Given the description of an element on the screen output the (x, y) to click on. 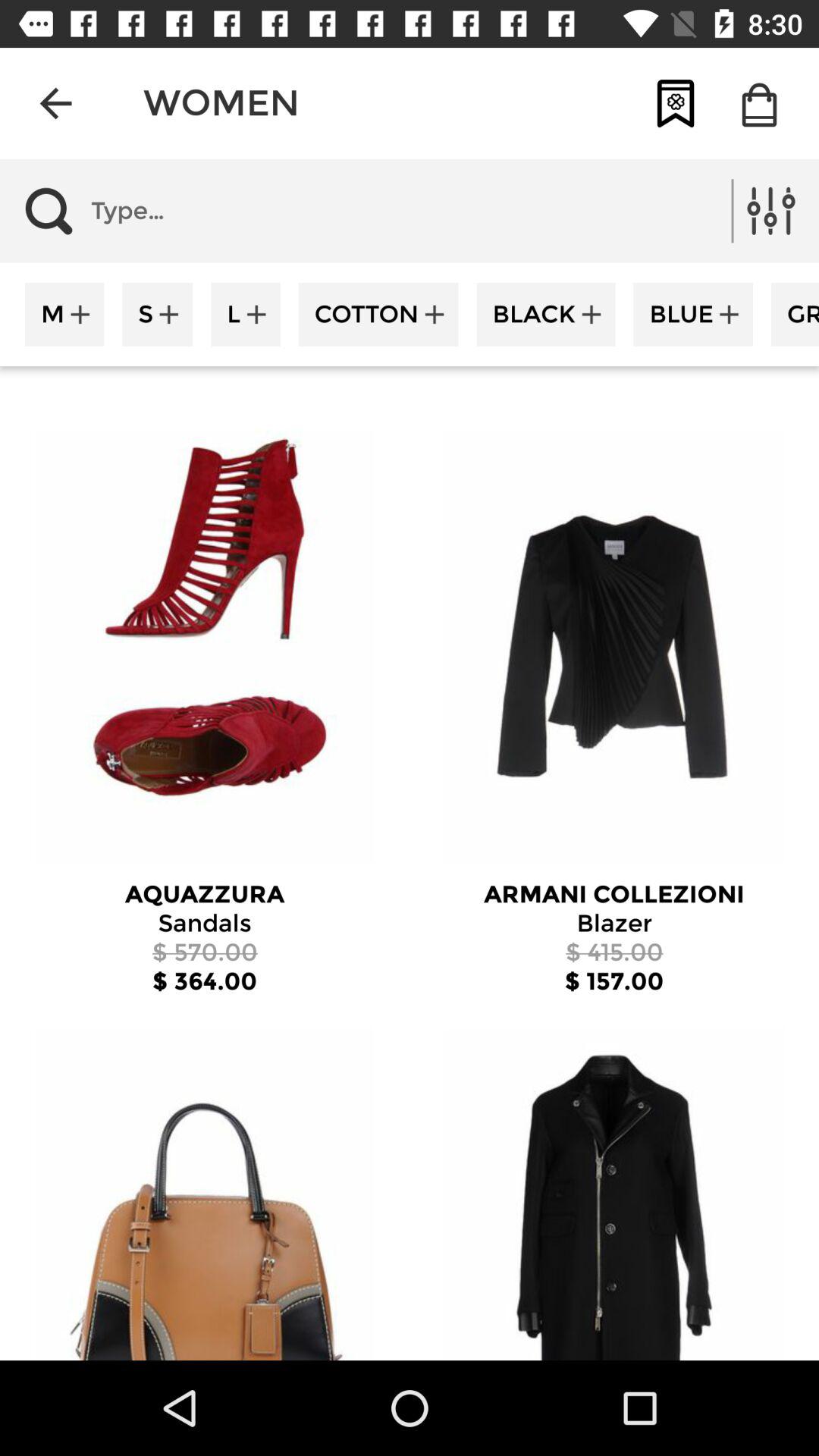
tap the icon next to the women (55, 103)
